Given the description of an element on the screen output the (x, y) to click on. 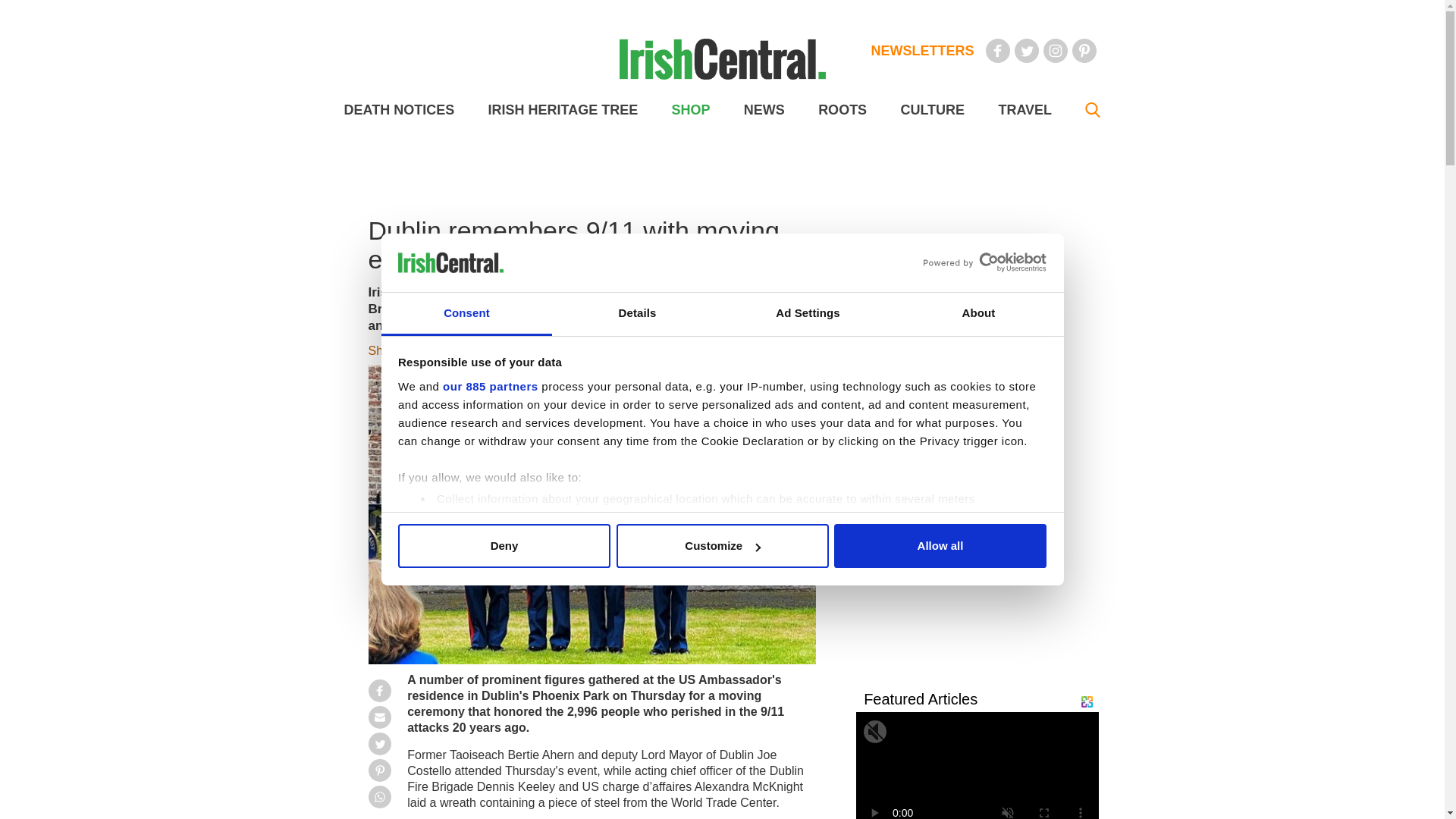
details section (927, 536)
Details (636, 313)
Consent (465, 313)
our 885 partners (490, 386)
About (978, 313)
Ad Settings (807, 313)
